Given the description of an element on the screen output the (x, y) to click on. 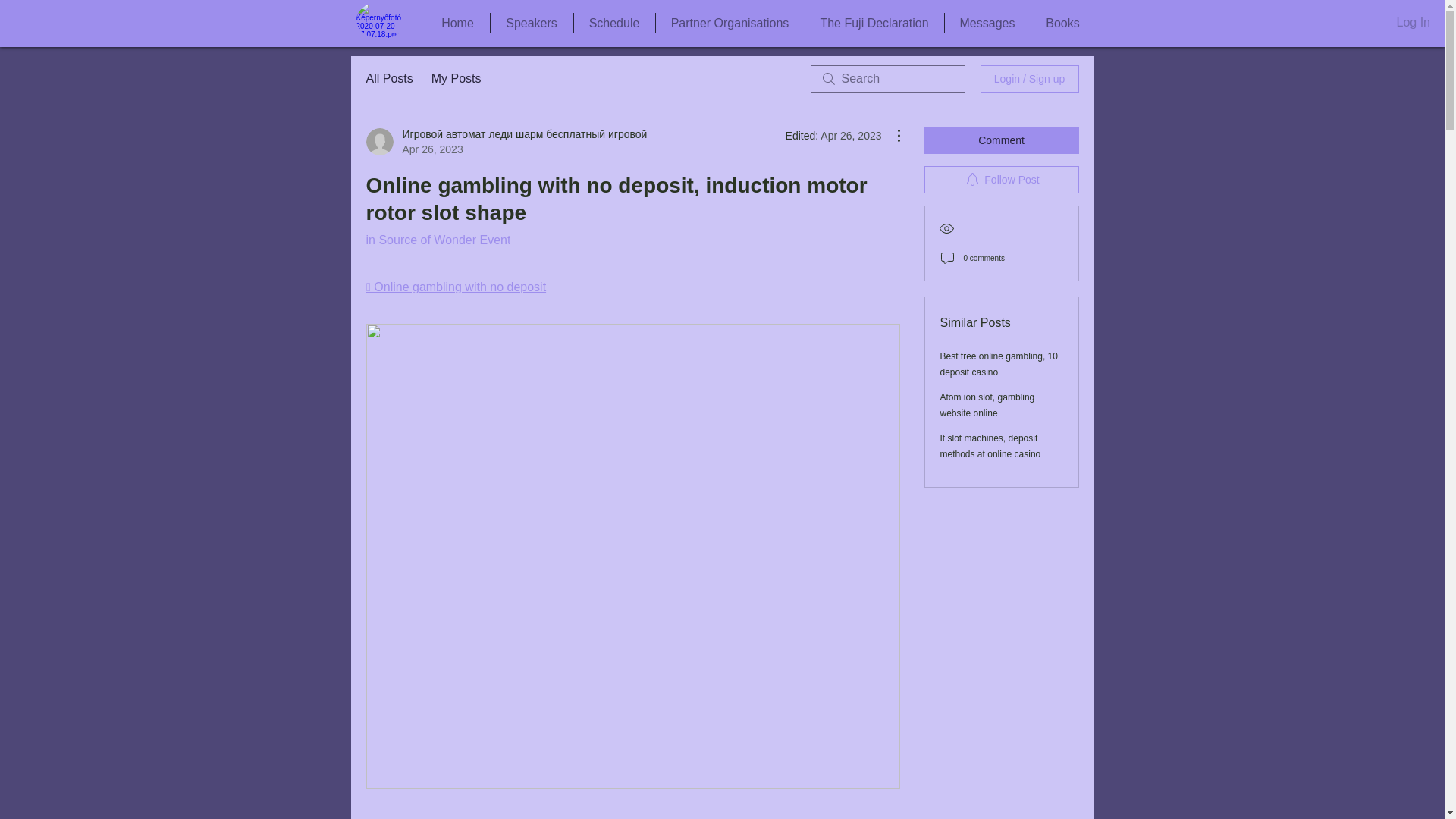
Best free online gambling, 10 deposit casino (999, 364)
Home (457, 23)
Books (1062, 23)
Atom ion slot, gambling website online (987, 405)
Follow Post (1000, 179)
Schedule (613, 23)
All Posts (388, 78)
Partner Organisations (729, 23)
It slot machines, deposit methods at online casino (990, 446)
Speakers (530, 23)
Messages (987, 23)
in Source of Wonder Event (438, 239)
The Fuji Declaration (874, 23)
Log In (1413, 22)
My Posts (455, 78)
